Given the description of an element on the screen output the (x, y) to click on. 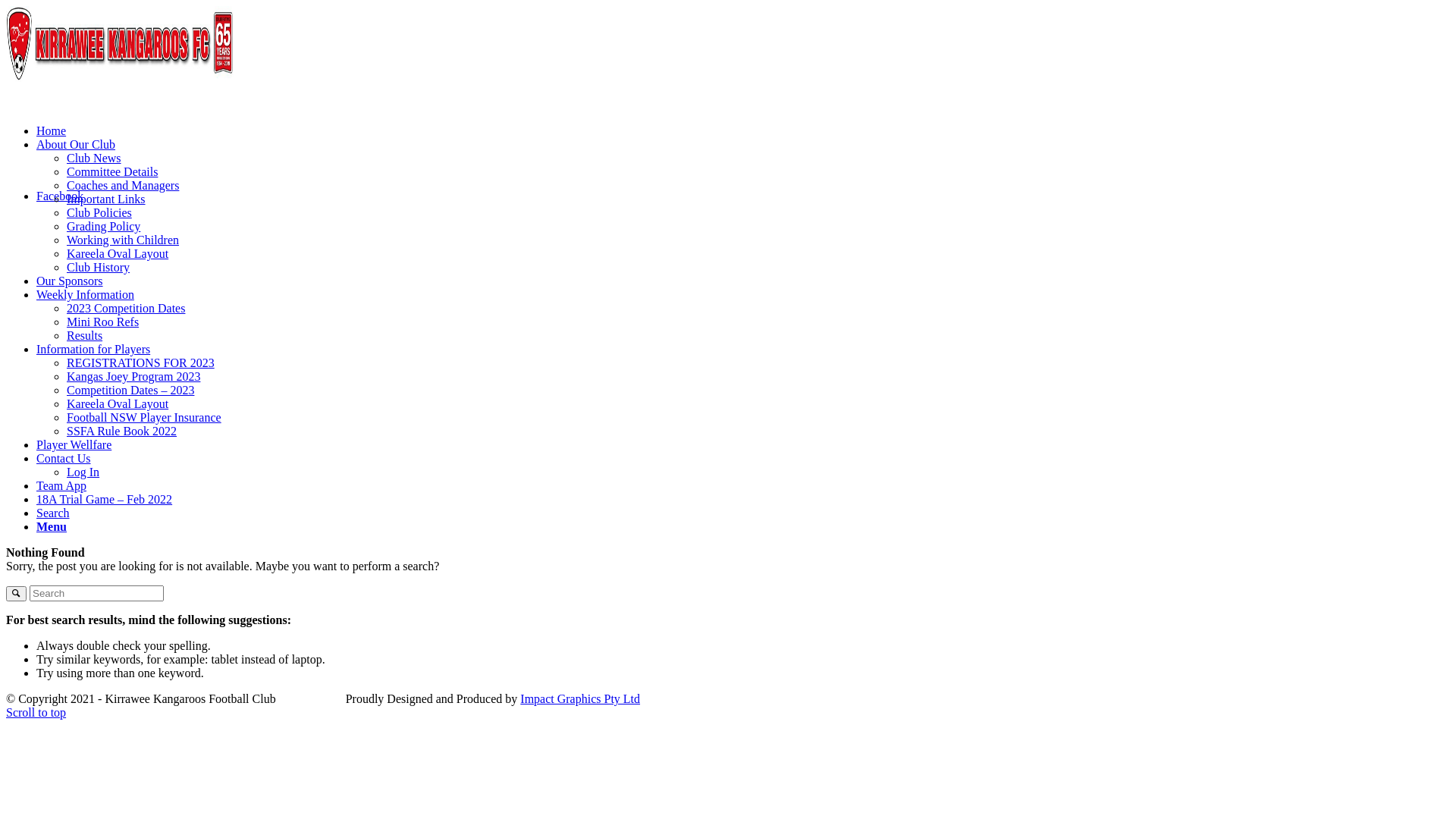
Kareela Oval Layout Element type: text (117, 403)
Important Links Element type: text (105, 198)
Mini Roo Refs Element type: text (102, 321)
Kareela Oval Layout Element type: text (117, 253)
SSFA Rule Book 2022 Element type: text (121, 430)
Search Element type: text (52, 512)
Player Wellfare Element type: text (73, 444)
Committee Details Element type: text (111, 171)
Facebook Element type: text (59, 195)
About Our Club Element type: text (75, 144)
Weekly Information Element type: text (85, 294)
Menu Element type: text (51, 526)
Grading Policy Element type: text (103, 225)
Working with Children Element type: text (122, 239)
Coaches and Managers Element type: text (122, 184)
2023 Competition Dates Element type: text (125, 307)
Club History Element type: text (97, 266)
Our Sponsors Element type: text (69, 280)
Information for Players Element type: text (93, 348)
Log In Element type: text (82, 471)
Football NSW Player Insurance Element type: text (143, 417)
Contact Us Element type: text (63, 457)
Home Element type: text (50, 130)
Impact Graphics Pty Ltd Element type: text (580, 698)
REGISTRATIONS FOR 2023 Element type: text (140, 362)
Club News Element type: text (93, 157)
Club Policies Element type: text (98, 212)
Scroll to top Element type: text (35, 712)
Team App Element type: text (61, 485)
Results Element type: text (84, 335)
Kangas Joey Program 2023 Element type: text (133, 376)
